Given the description of an element on the screen output the (x, y) to click on. 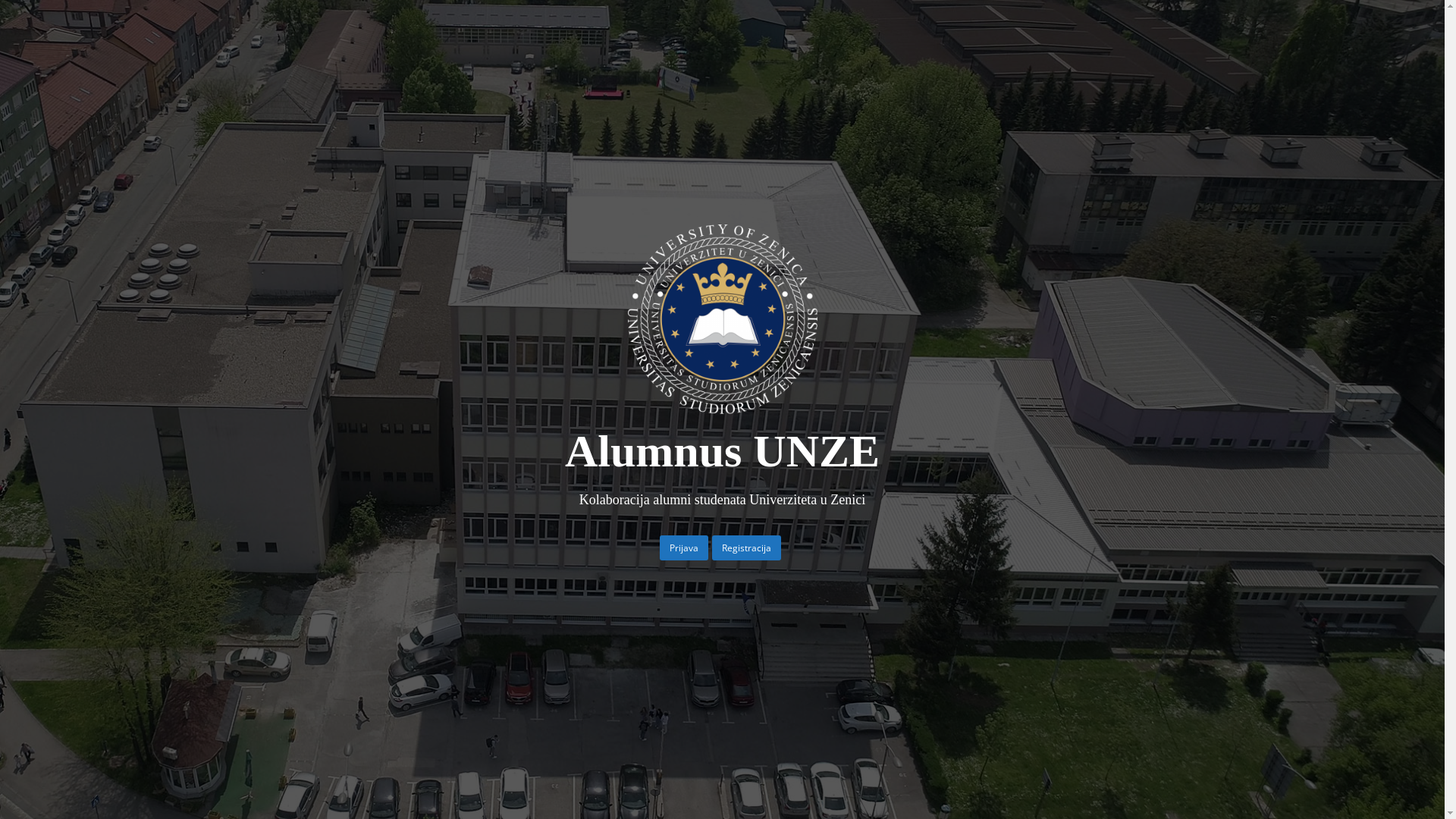
Prijava Element type: text (683, 547)
Registracija Element type: text (746, 547)
